Given the description of an element on the screen output the (x, y) to click on. 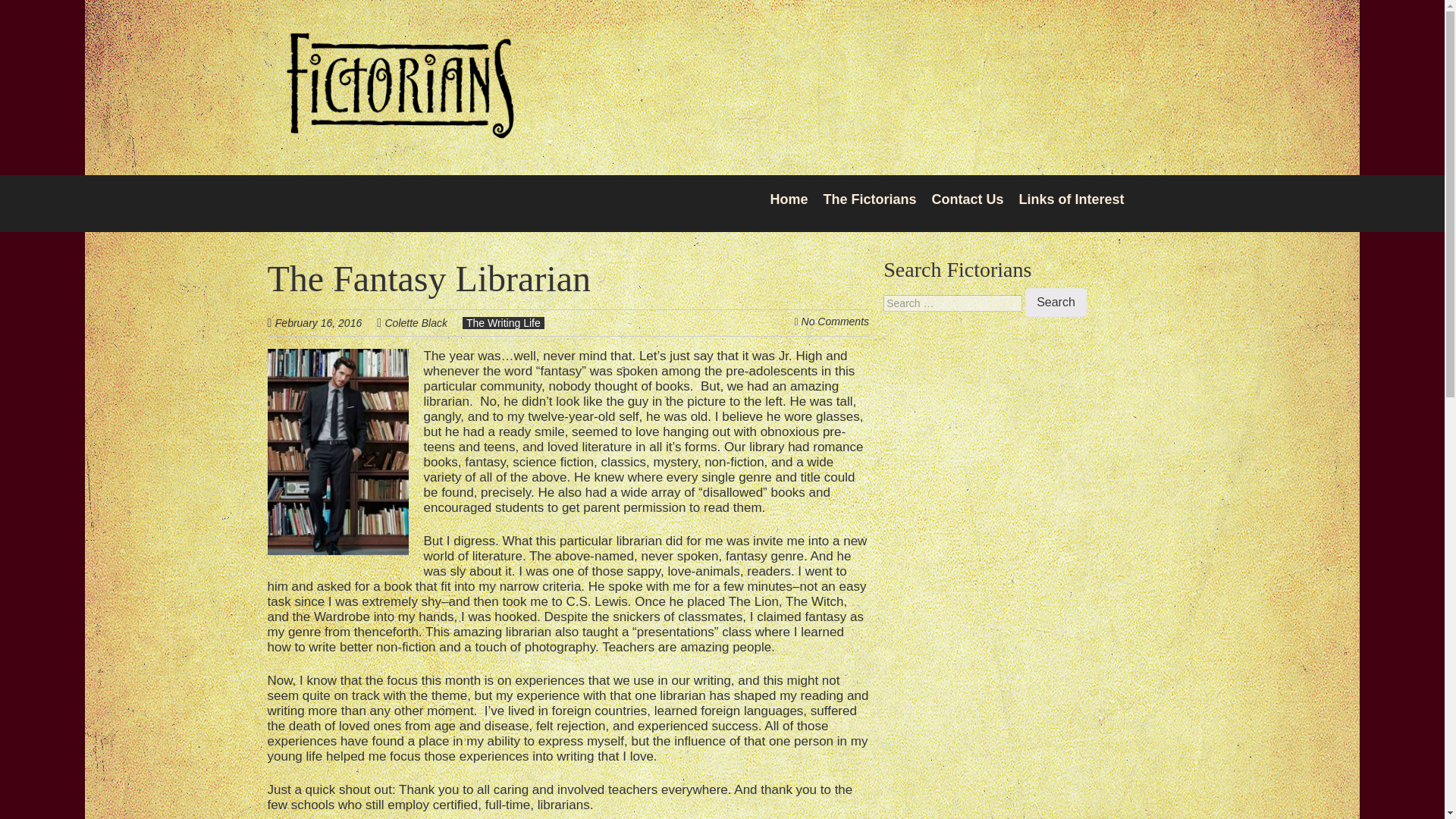
Colette Black (415, 322)
Contact Us (967, 199)
Search (1055, 302)
Search (1055, 302)
Home (789, 199)
Links of Interest (1070, 199)
The Fictorians (868, 199)
No Comments (835, 321)
The Fictorians (399, 129)
View all posts by Colette Black (415, 322)
Search (1055, 302)
February 16, 2016 (326, 322)
Comment on The Fantasy Librarian (835, 321)
The Writing Life (503, 322)
